Given the description of an element on the screen output the (x, y) to click on. 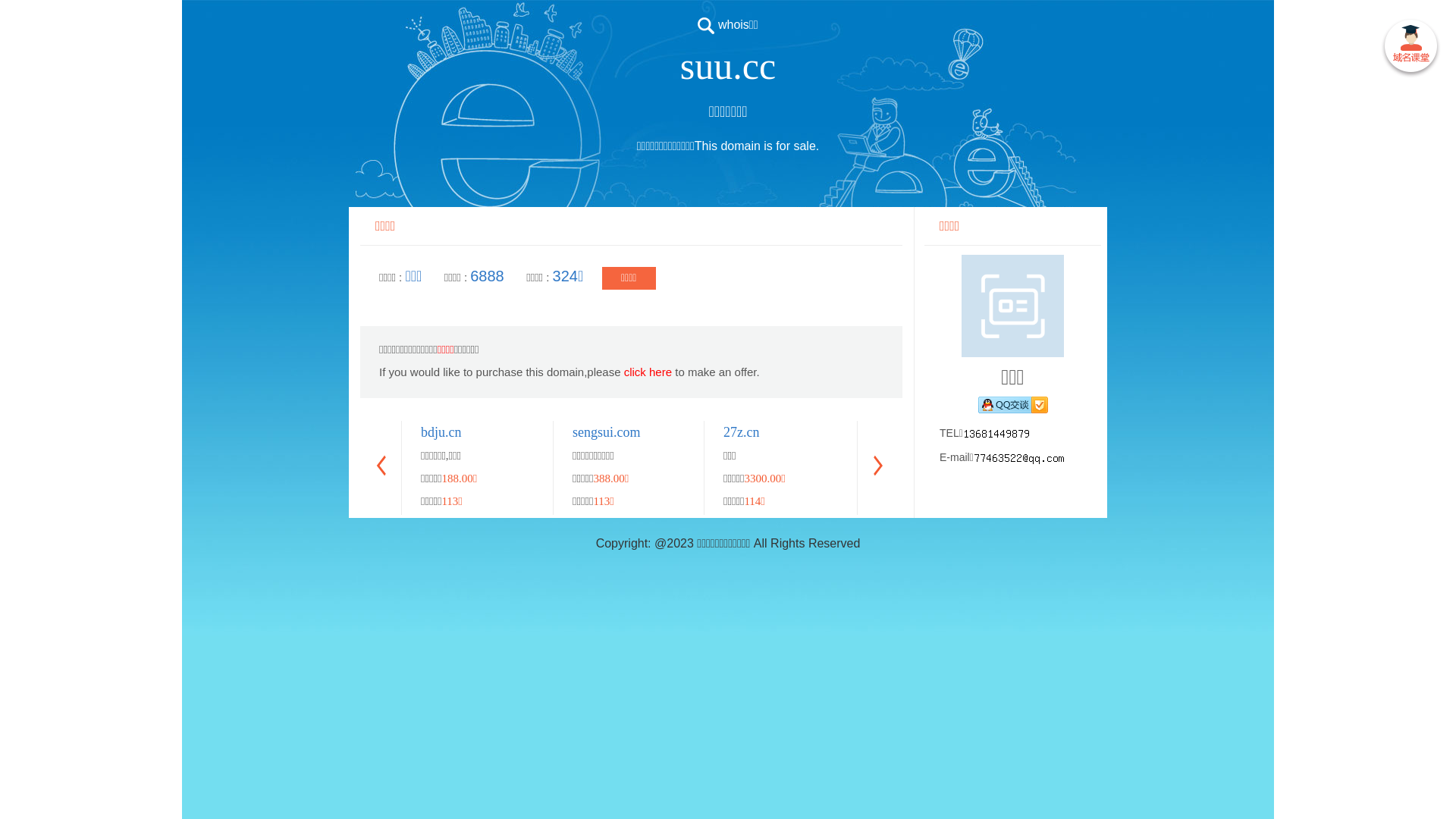
27z.cn Element type: text (741, 431)
linyifangchan.cn Element type: text (1070, 431)
xygw.com Element type: text (902, 431)
woya.cn Element type: text (1349, 431)
beikeqin.com Element type: text (1212, 431)
  Element type: text (1410, 48)
sengsui.com Element type: text (606, 431)
click here Element type: text (647, 371)
bdju.cn Element type: text (440, 431)
